Given the description of an element on the screen output the (x, y) to click on. 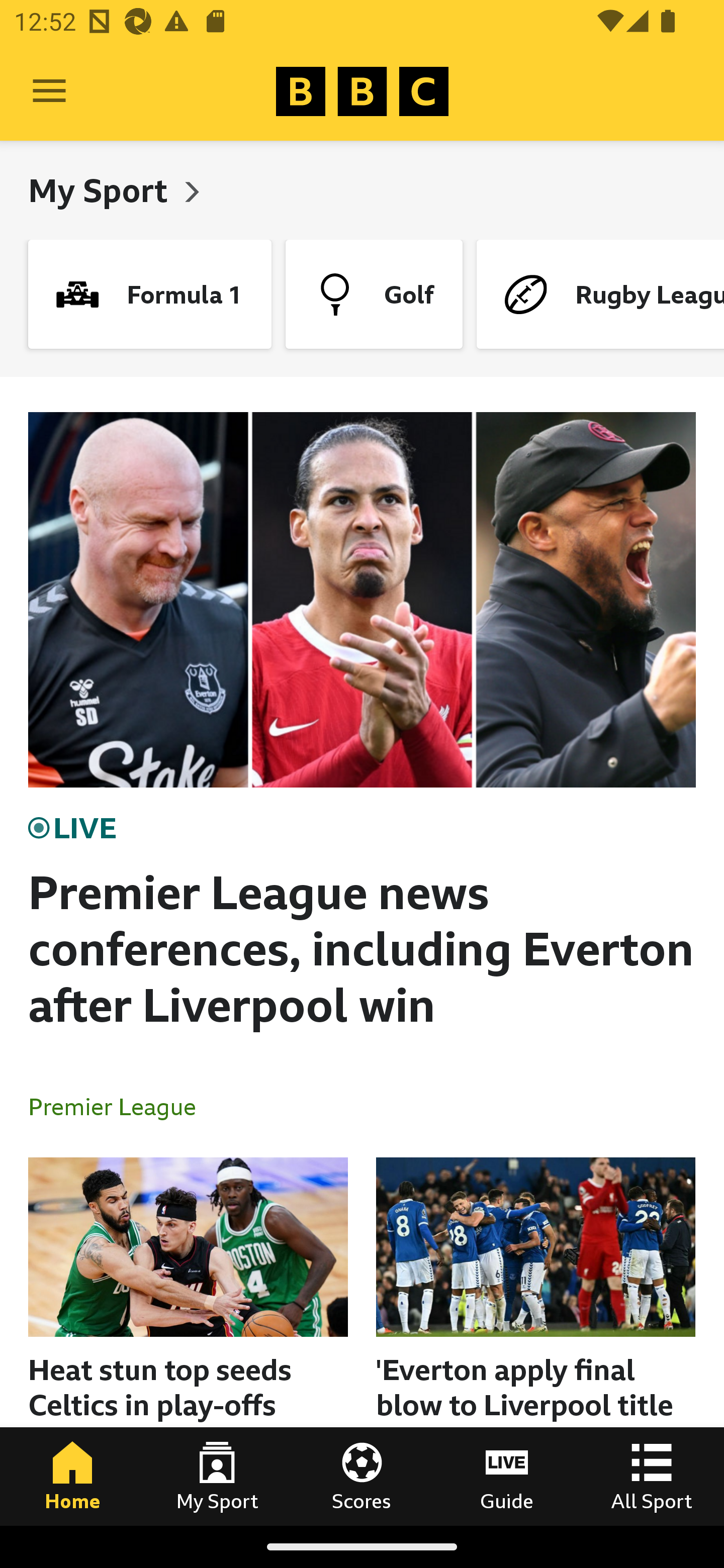
Open Menu (49, 91)
My Sport (101, 190)
Premier League In the section Premier League (119, 1106)
My Sport (216, 1475)
Scores (361, 1475)
Guide (506, 1475)
All Sport (651, 1475)
